Given the description of an element on the screen output the (x, y) to click on. 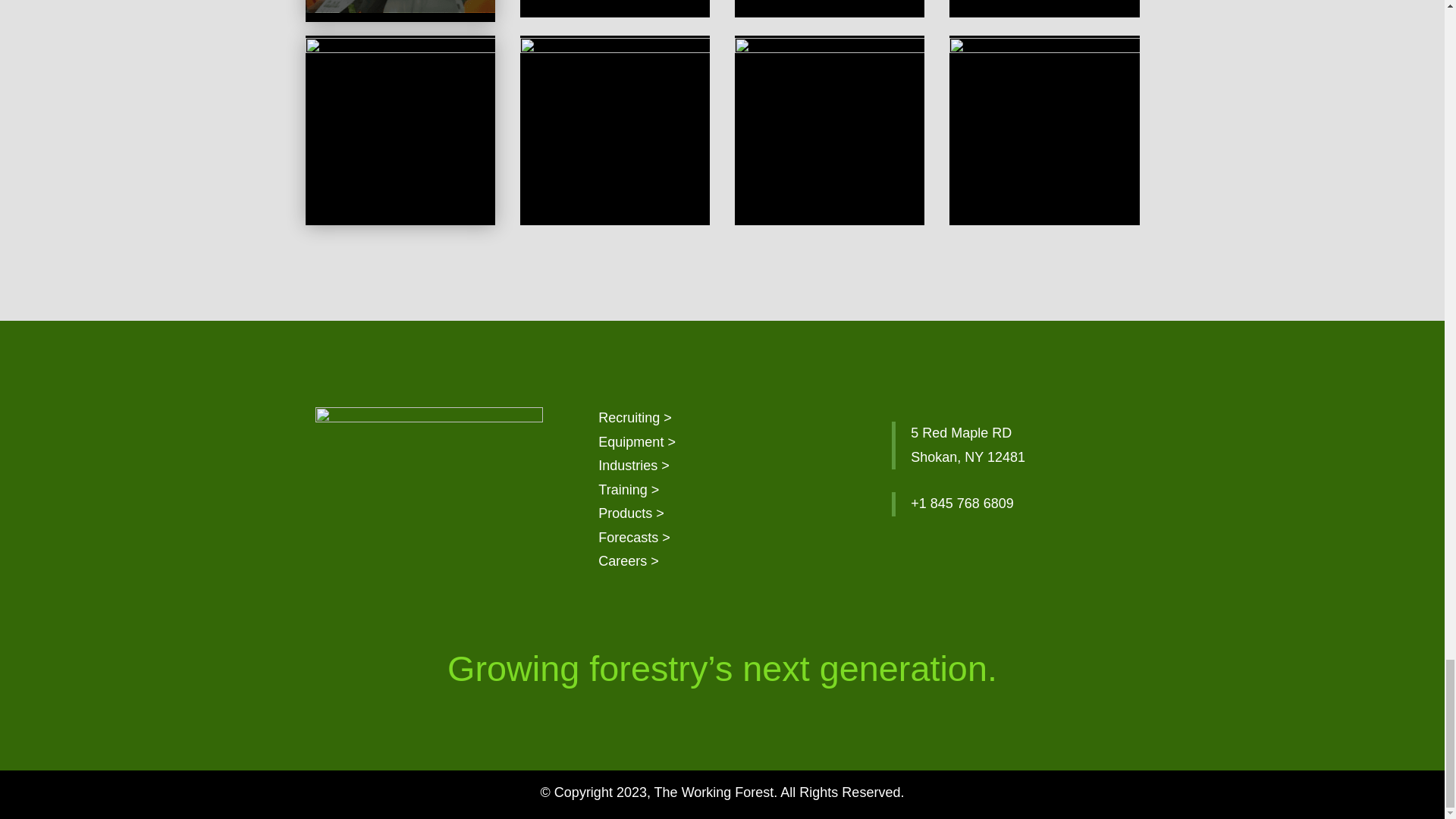
Products (630, 513)
Equipment Information (636, 441)
Industries (633, 465)
Forcasts (633, 537)
Recruiting Information (634, 417)
Training Information (628, 489)
Career Information (628, 560)
